Given the description of an element on the screen output the (x, y) to click on. 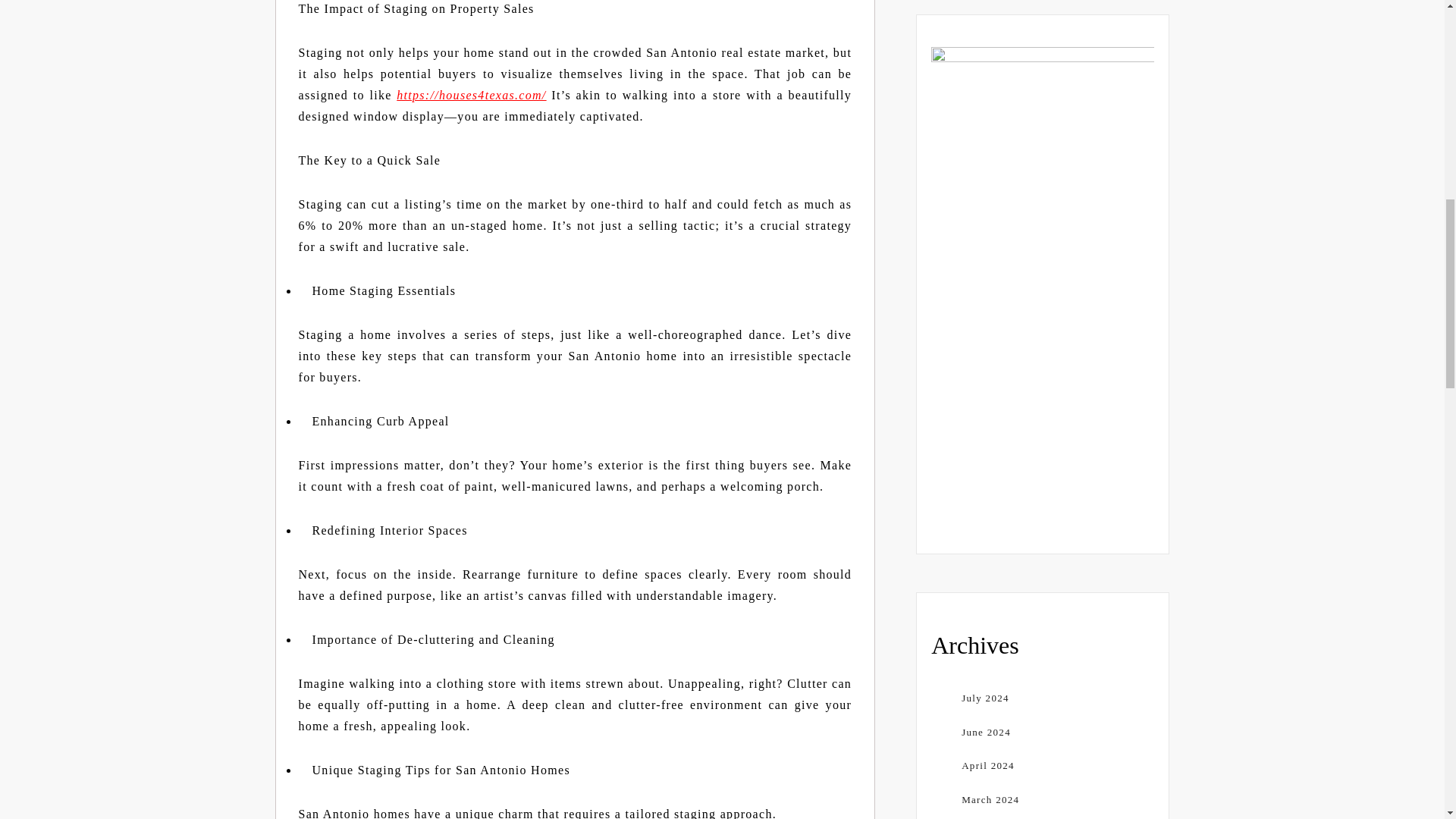
June 2024 (985, 731)
July 2024 (984, 697)
April 2024 (987, 765)
March 2024 (989, 799)
